Given the description of an element on the screen output the (x, y) to click on. 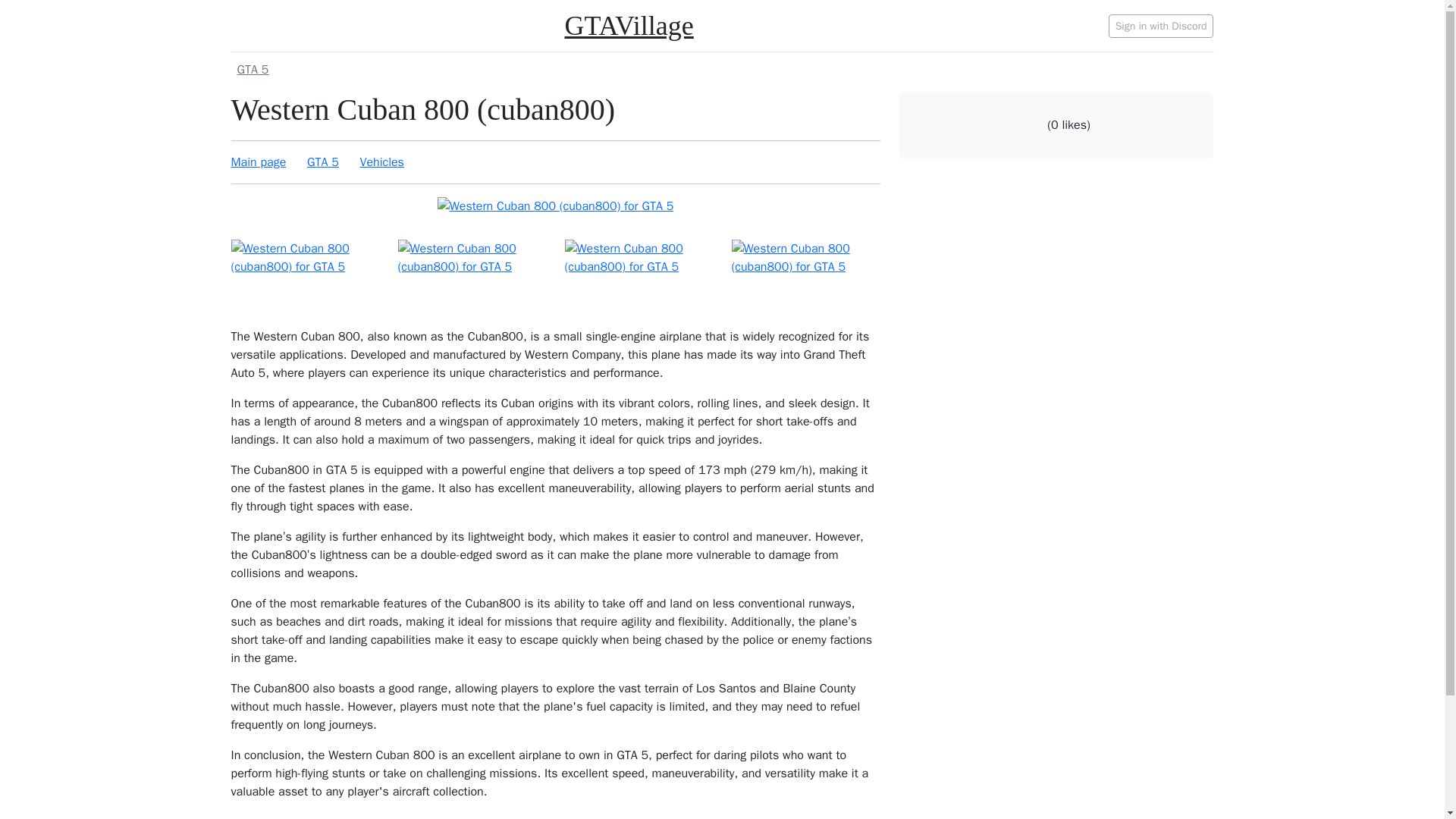
GTA 5 (252, 69)
GTAVillage (628, 25)
Vehicles (381, 161)
GTA 5 (323, 161)
Sign in with Discord (1161, 24)
GTA 5 (721, 68)
Main page (257, 161)
